Given the description of an element on the screen output the (x, y) to click on. 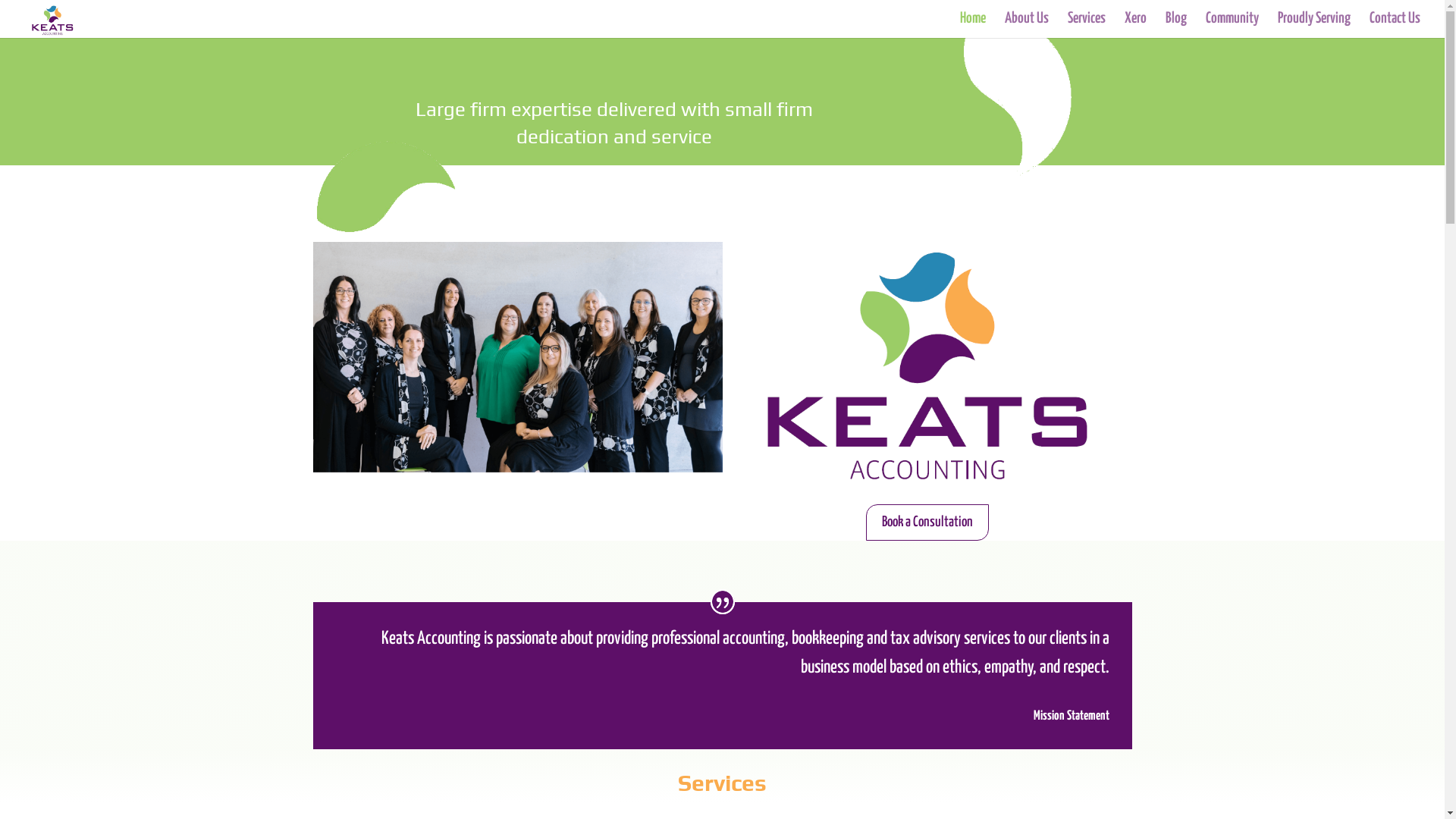
Community Element type: text (1231, 25)
Contact Us Element type: text (1394, 25)
Xero Element type: text (1135, 25)
Proudly Serving Element type: text (1313, 25)
Book a Consultation Element type: text (927, 522)
About Us Element type: text (1026, 25)
Services Element type: text (721, 782)
Services Element type: text (1086, 25)
keats-accounting-team Element type: hover (516, 356)
Home Element type: text (972, 25)
Blog Element type: text (1175, 25)
